Given the description of an element on the screen output the (x, y) to click on. 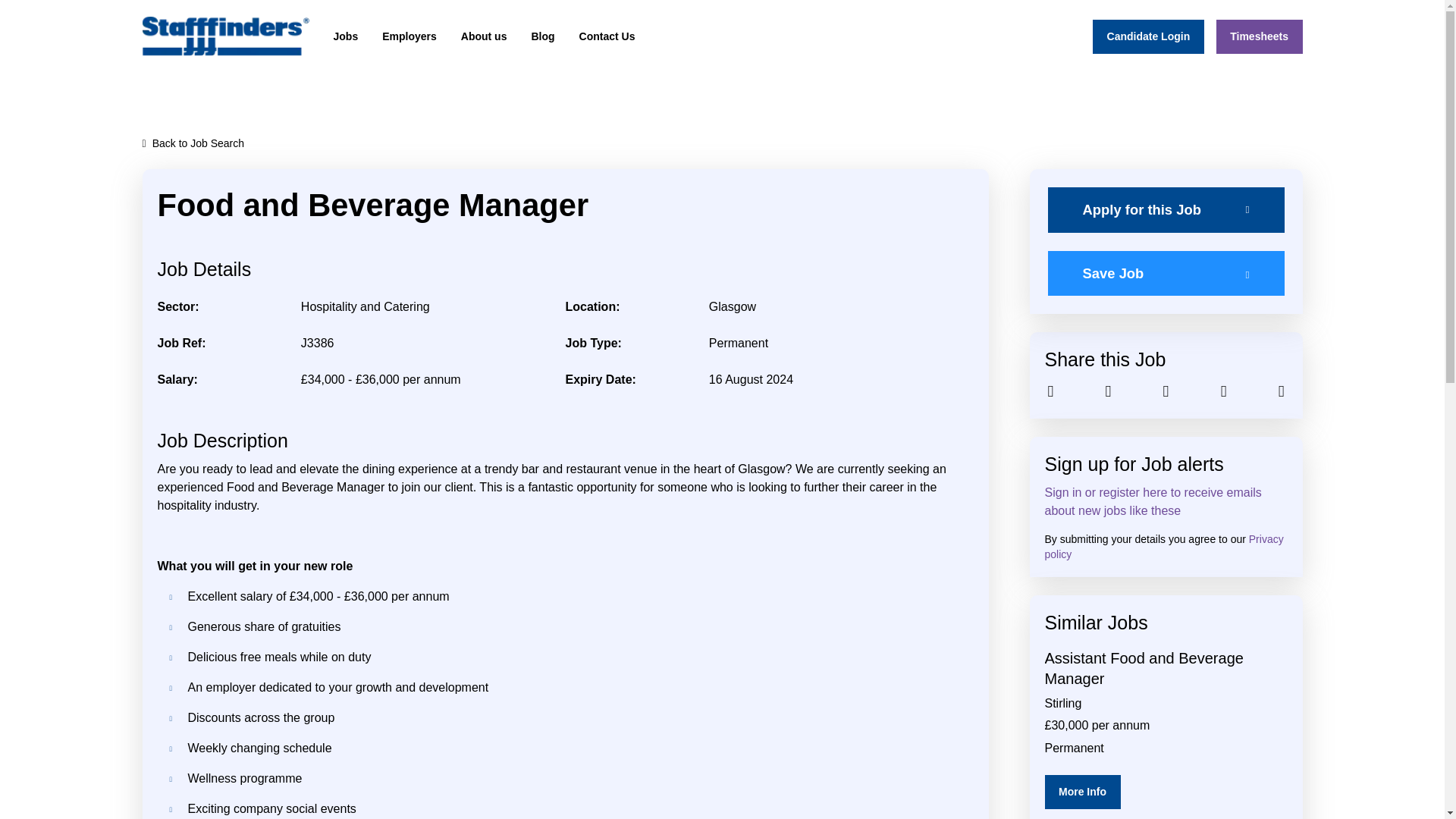
Jobs (346, 35)
Contact Us (607, 35)
About us (483, 35)
Blog (542, 35)
Employers (408, 35)
